Given the description of an element on the screen output the (x, y) to click on. 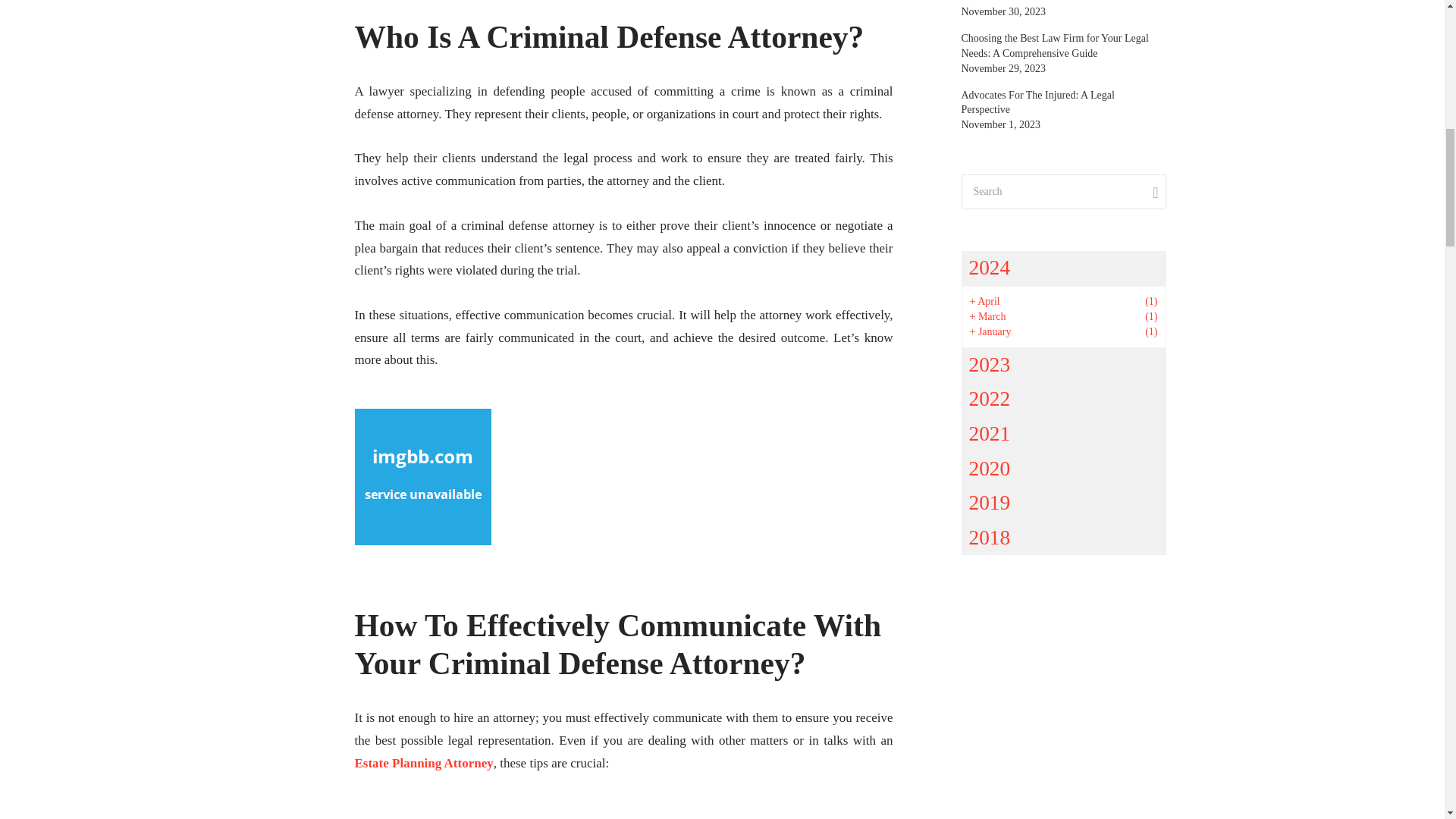
Estate Planning Attorney (424, 762)
